Given the description of an element on the screen output the (x, y) to click on. 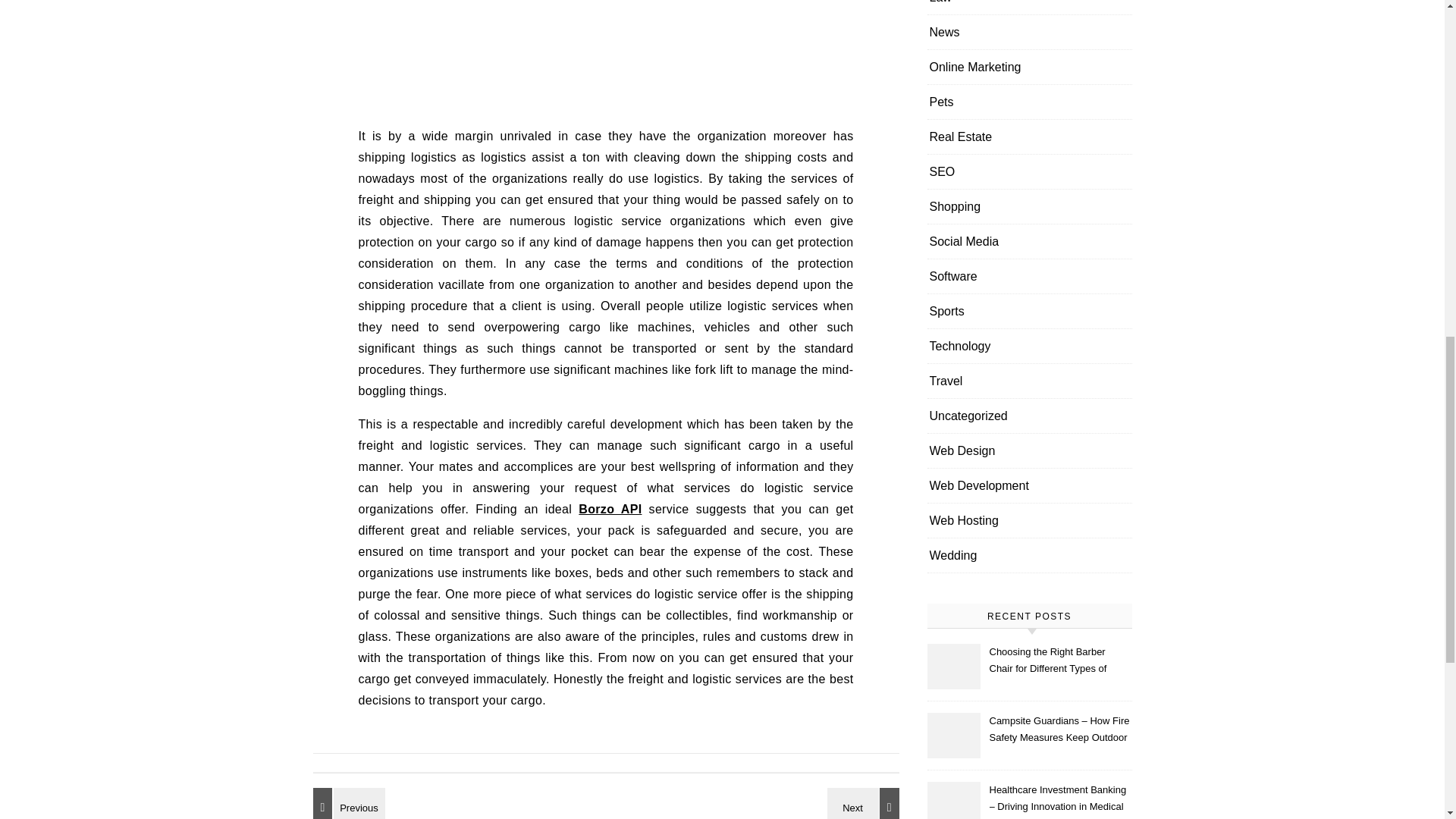
Borzo API (610, 508)
